Given the description of an element on the screen output the (x, y) to click on. 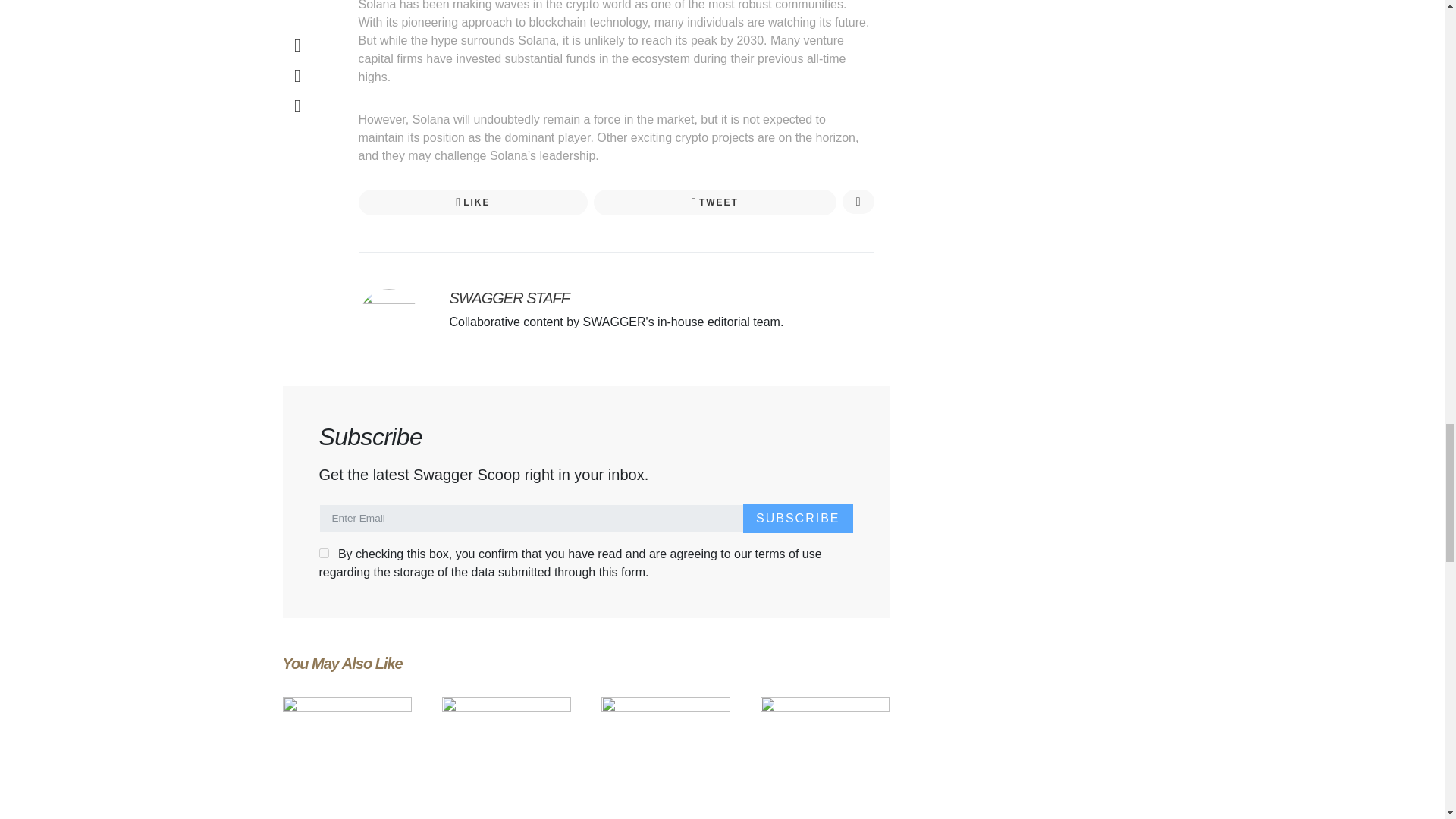
on (323, 552)
